Given the description of an element on the screen output the (x, y) to click on. 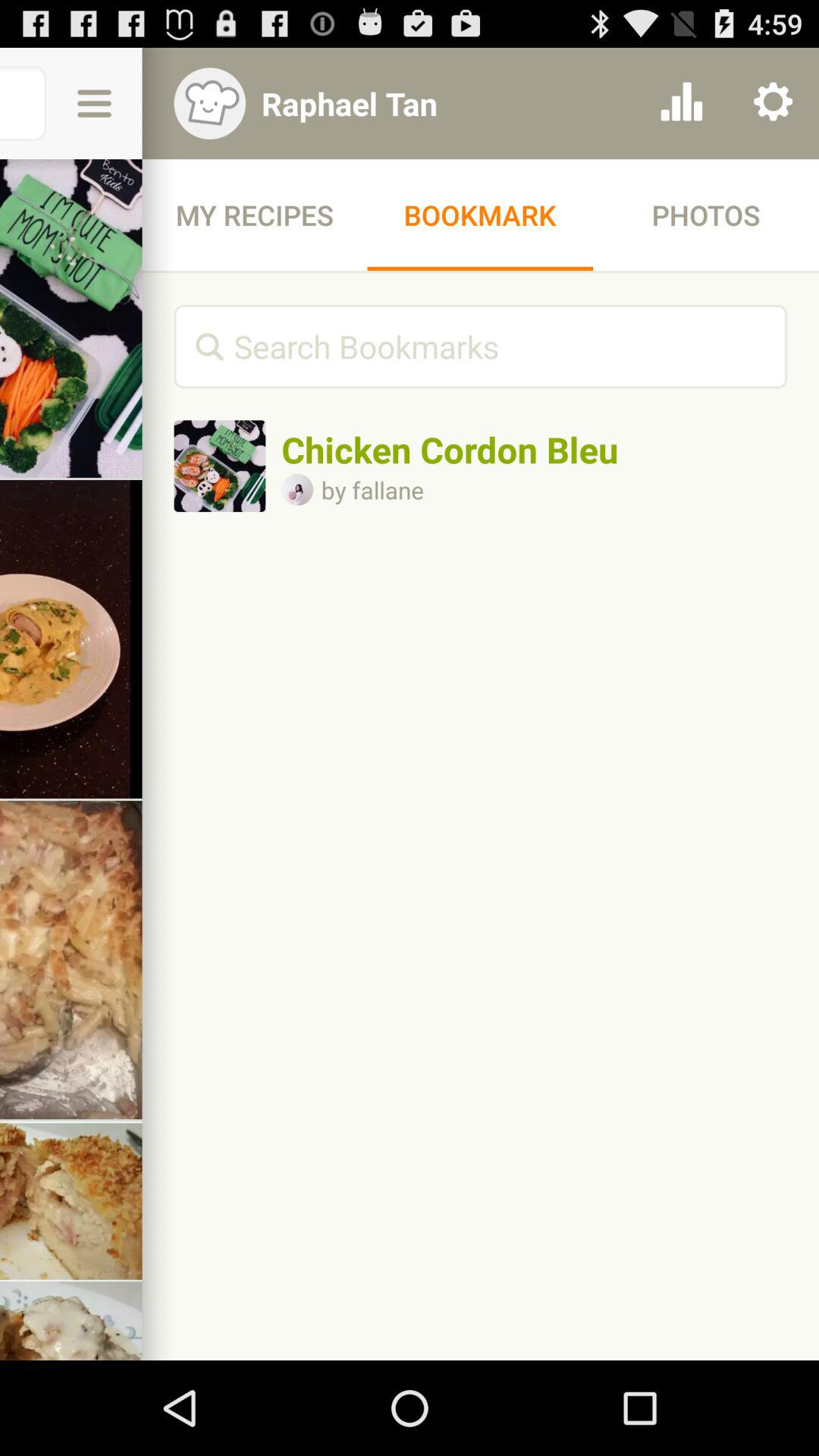
open icon above the photos icon (681, 103)
